Given the description of an element on the screen output the (x, y) to click on. 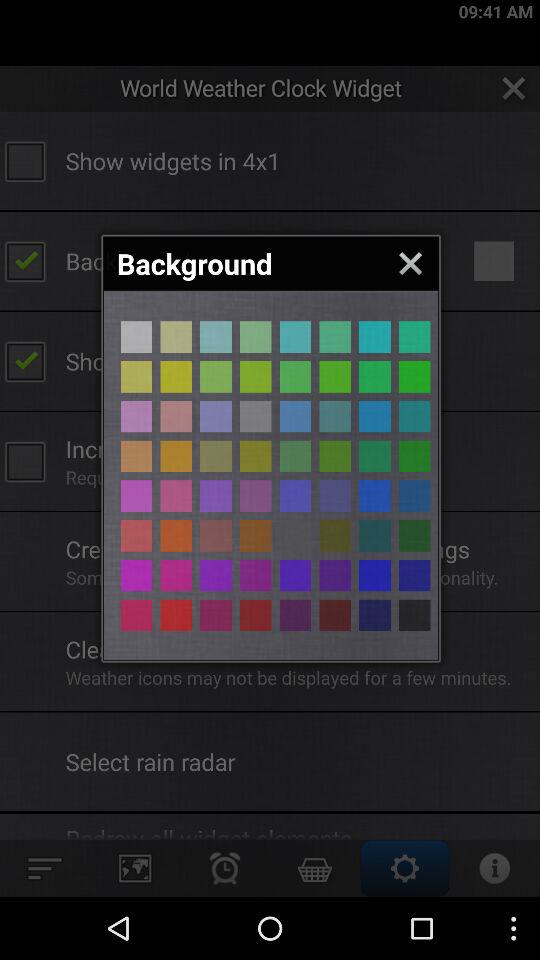
select color (215, 456)
